Given the description of an element on the screen output the (x, y) to click on. 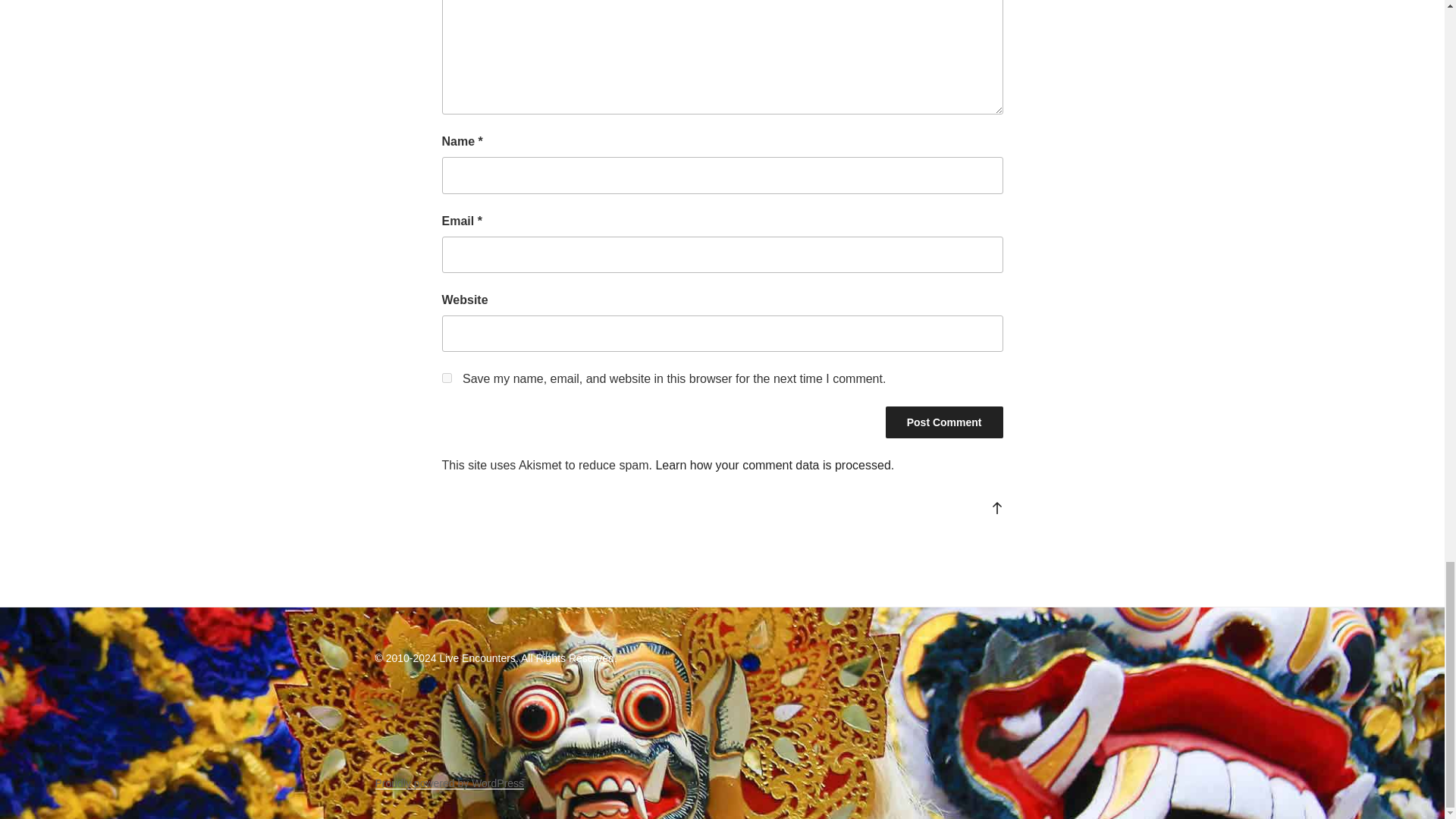
Back to top (996, 507)
Post Comment (944, 422)
Learn how your comment data is processed (772, 464)
Post Comment (944, 422)
yes (446, 378)
Proudly powered by WordPress (449, 783)
